Given the description of an element on the screen output the (x, y) to click on. 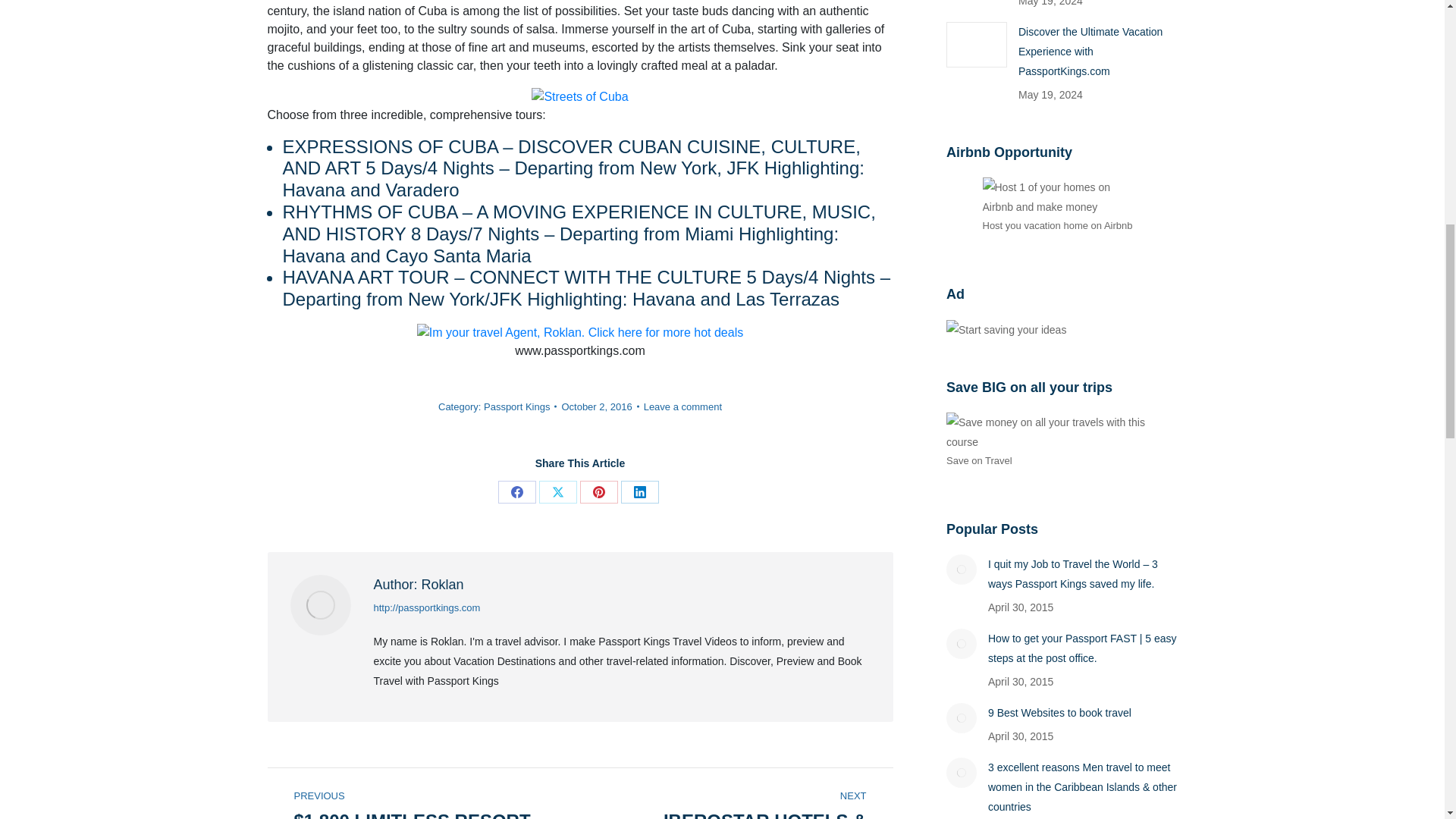
X (557, 491)
3:24 am (599, 406)
Facebook (516, 491)
